Given the description of an element on the screen output the (x, y) to click on. 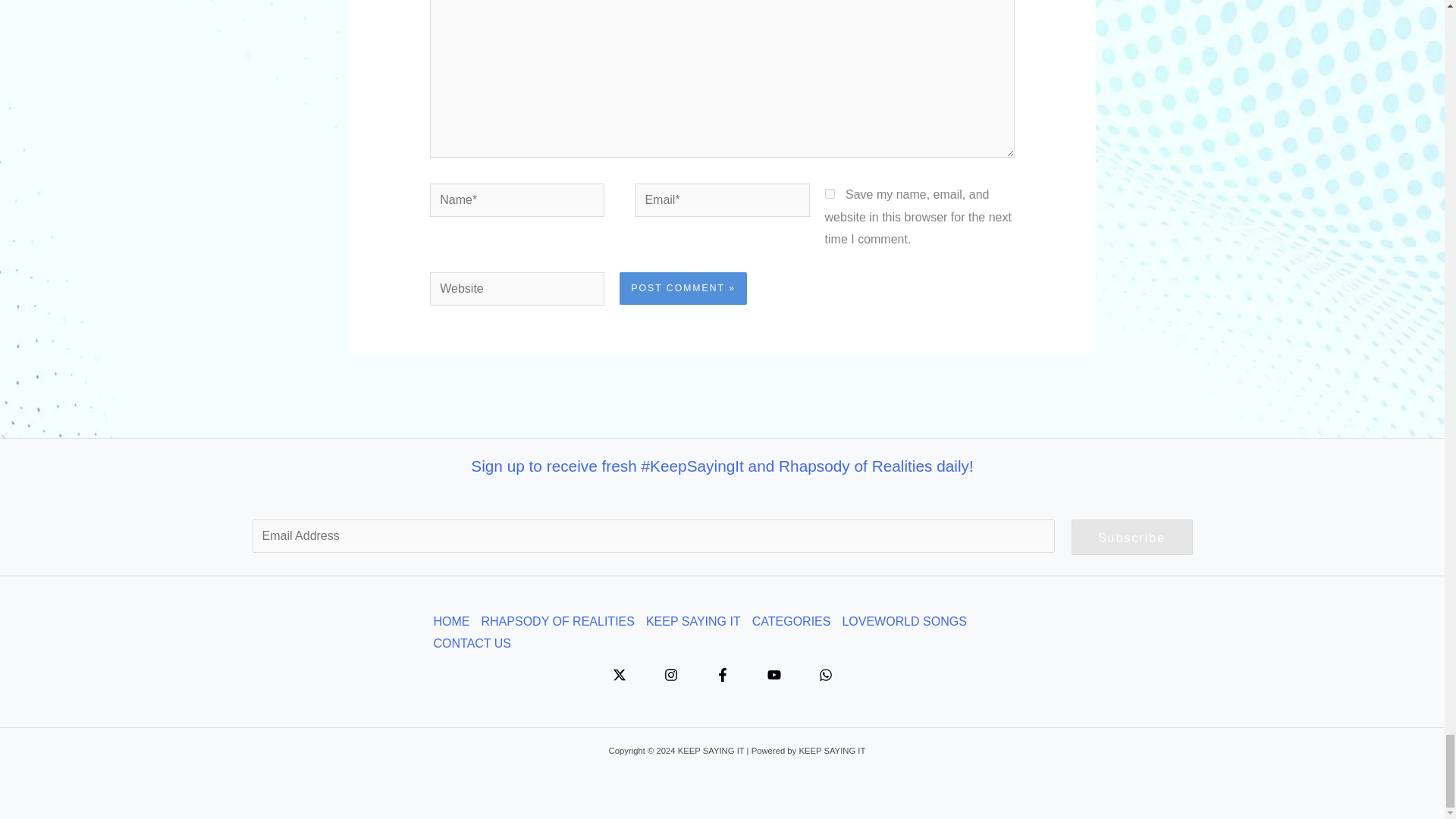
yes (829, 194)
